Given the description of an element on the screen output the (x, y) to click on. 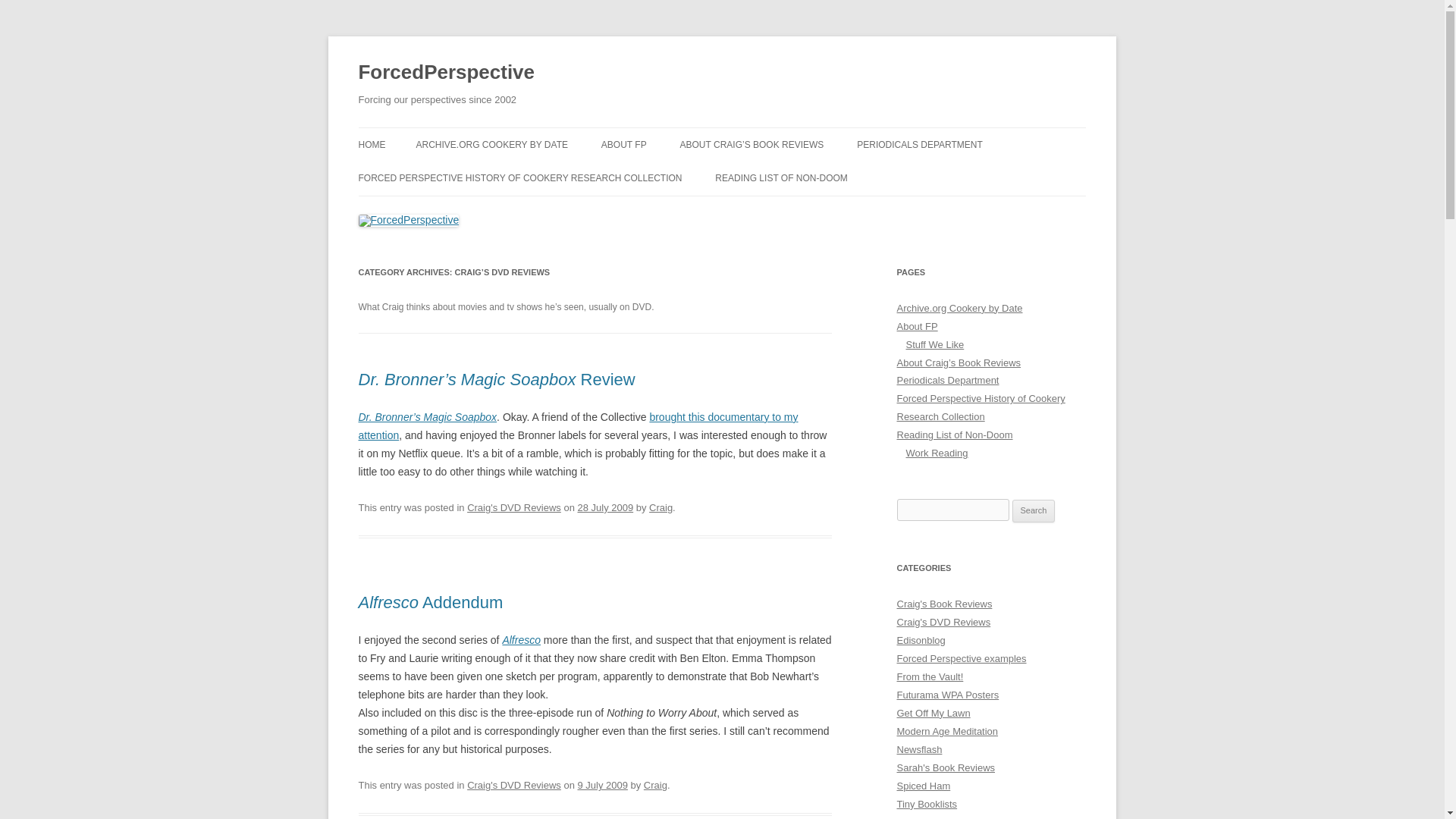
Craig's DVD Reviews (513, 507)
Search (1033, 510)
9 July 2009 (602, 785)
Craig's DVD Reviews (513, 785)
ARCHIVE.ORG COOKERY BY DATE (490, 144)
9:18 pm (605, 507)
View all posts by Craig (660, 507)
Craig (654, 785)
FORCED PERSPECTIVE HISTORY OF COOKERY RESEARCH COLLECTION (519, 177)
ABOUT FP (623, 144)
